Given the description of an element on the screen output the (x, y) to click on. 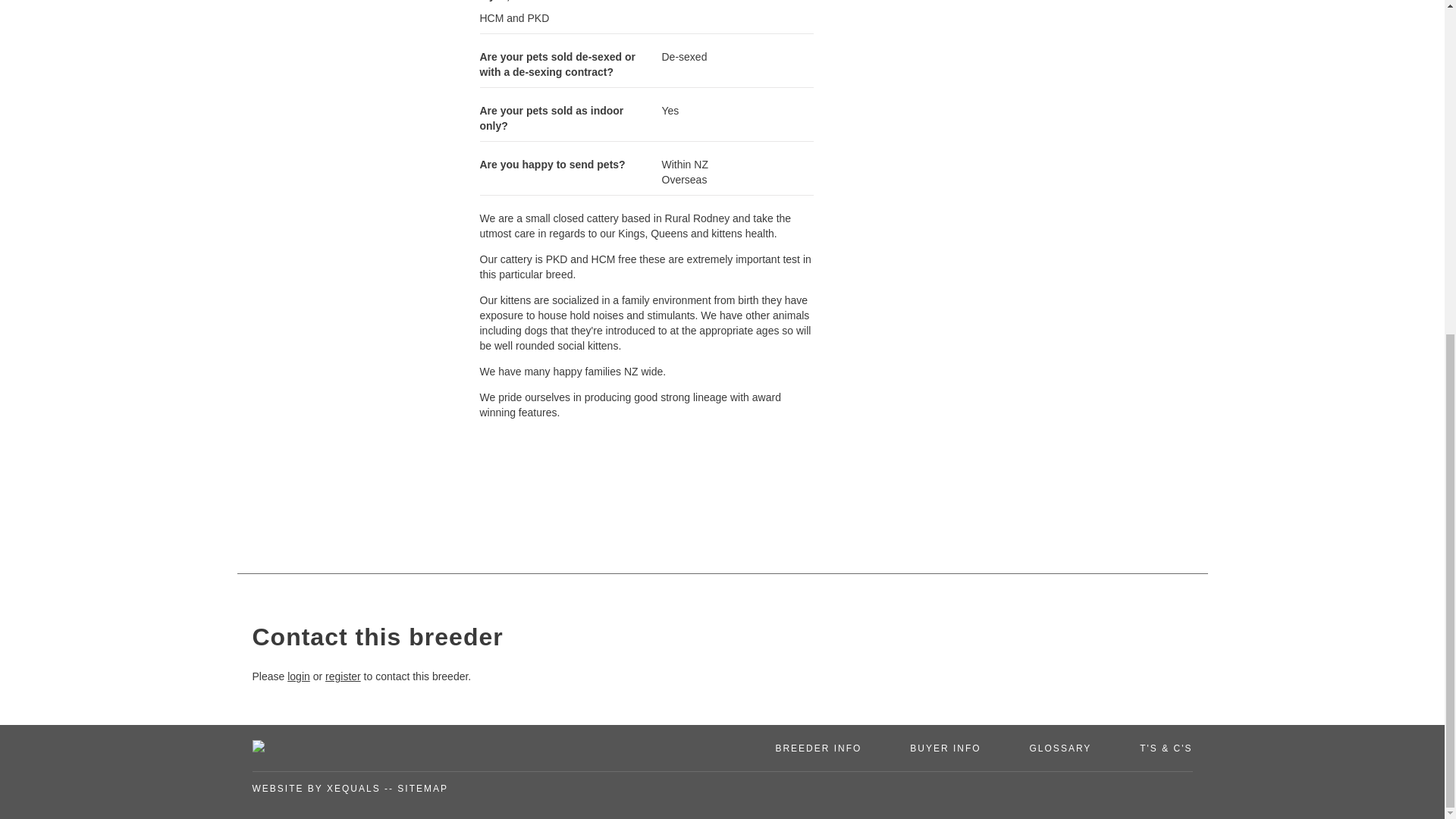
DamaliDollz (1025, 49)
BUYER INFO (944, 747)
GLOSSARY (1060, 747)
XEQUALS (353, 787)
login (298, 676)
SITEMAP (422, 787)
register (342, 676)
BREEDER INFO (817, 747)
